Given the description of an element on the screen output the (x, y) to click on. 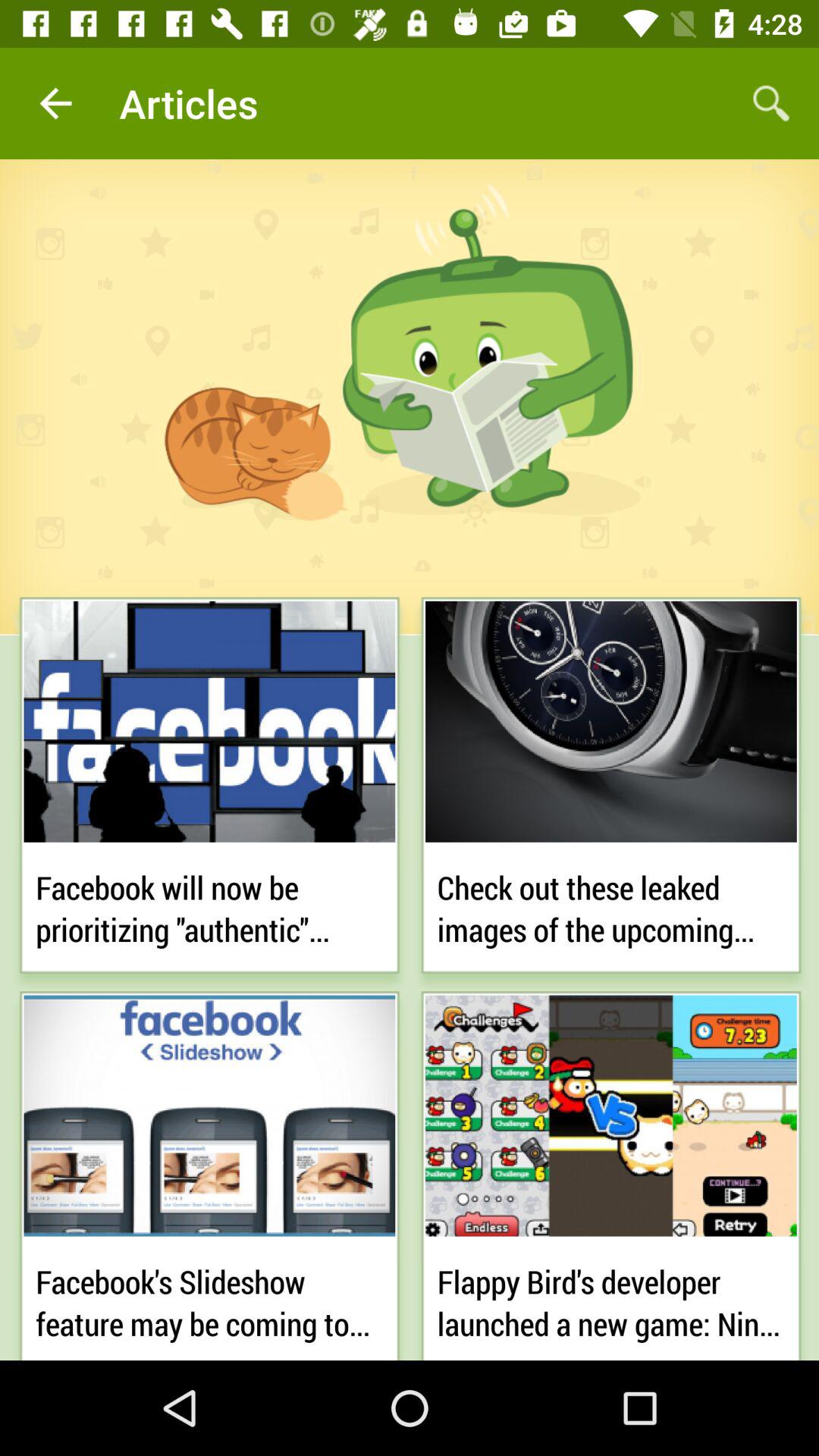
flip until check out these item (610, 905)
